Given the description of an element on the screen output the (x, y) to click on. 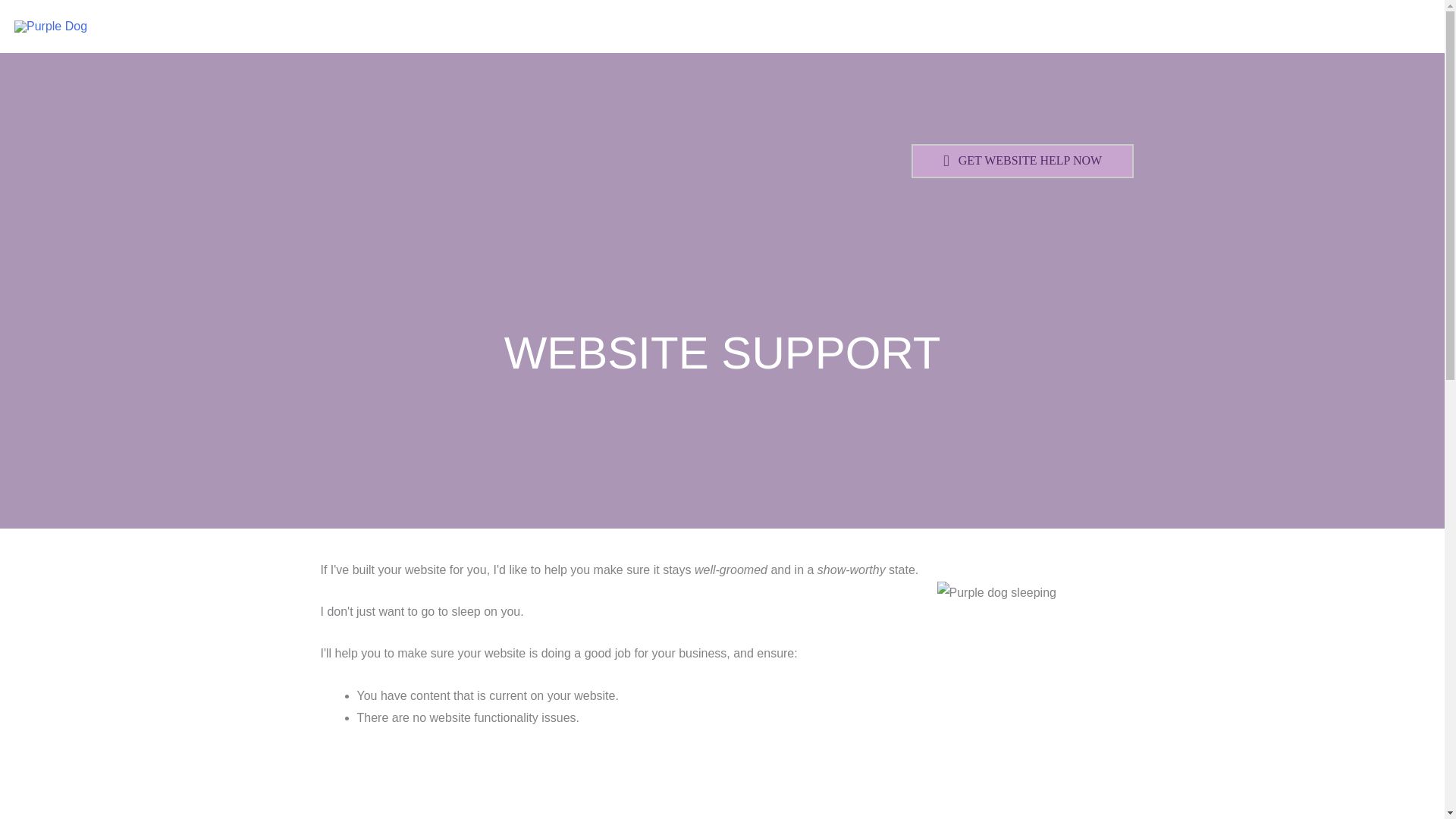
CREATIVE CONTENT (1062, 26)
ABOUT (857, 26)
RESOURCES (942, 26)
CONTACT (1392, 26)
LEARN WITH BECKY (1285, 26)
Click Here (1022, 161)
